Given the description of an element on the screen output the (x, y) to click on. 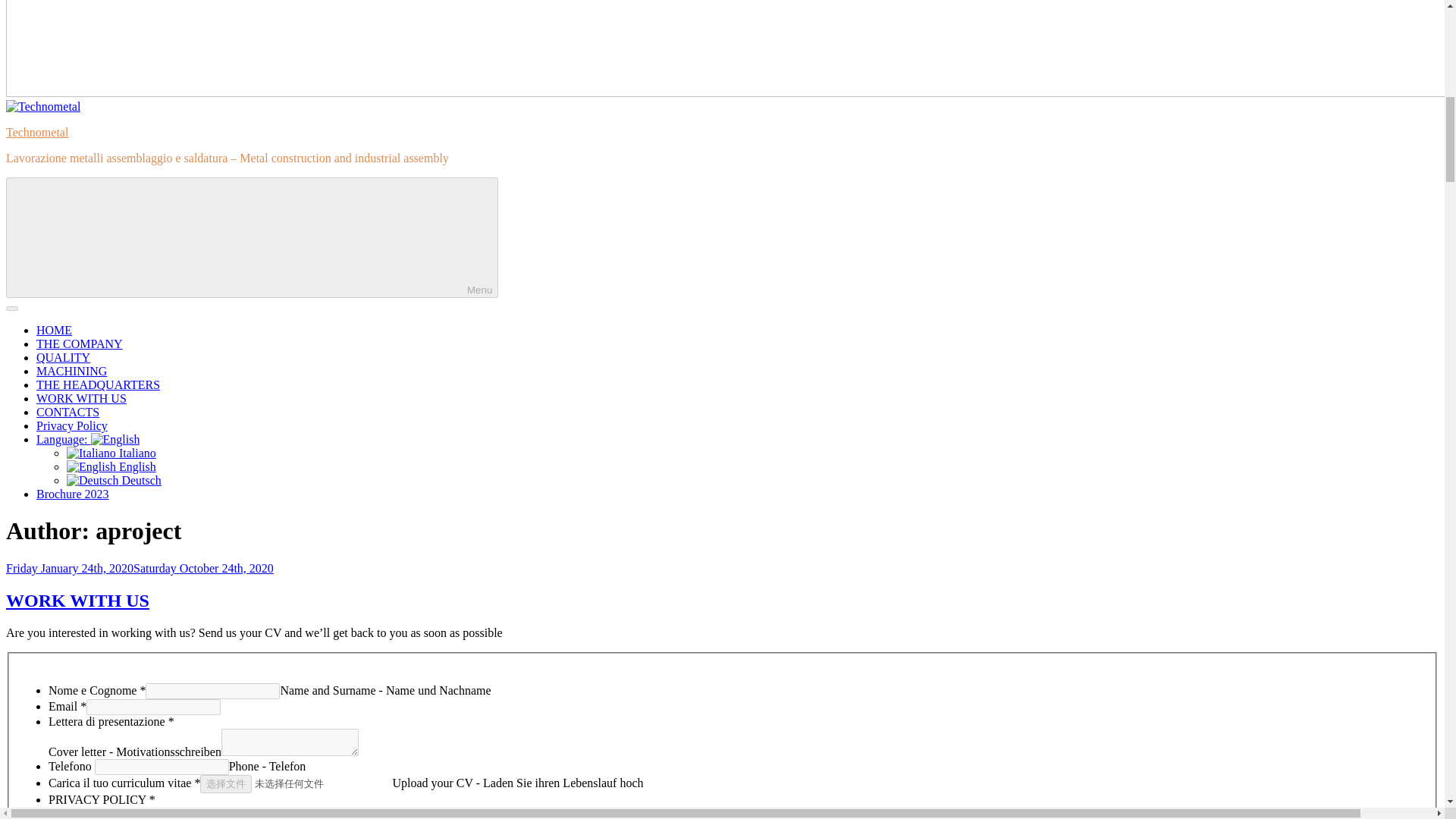
QUALITY (63, 357)
Language:  (87, 439)
WORK WITH US (81, 398)
HOME (53, 329)
THE COMPANY (79, 343)
WORK WITH US (77, 600)
Brochure 2023 (72, 493)
 Italiano (110, 452)
English (87, 439)
Italiano (110, 452)
